Given the description of an element on the screen output the (x, y) to click on. 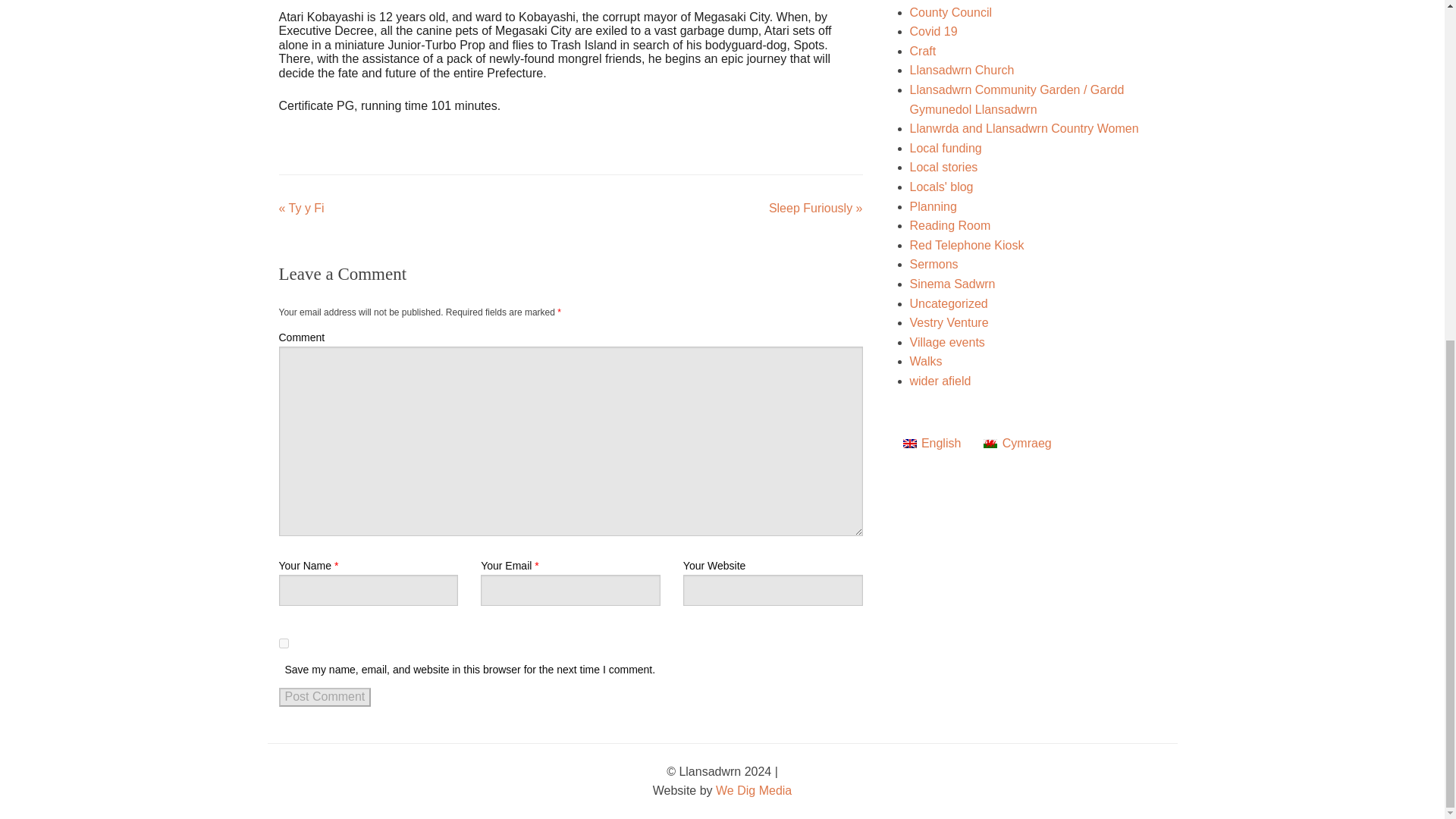
yes (283, 643)
Post Comment (325, 696)
